Given the description of an element on the screen output the (x, y) to click on. 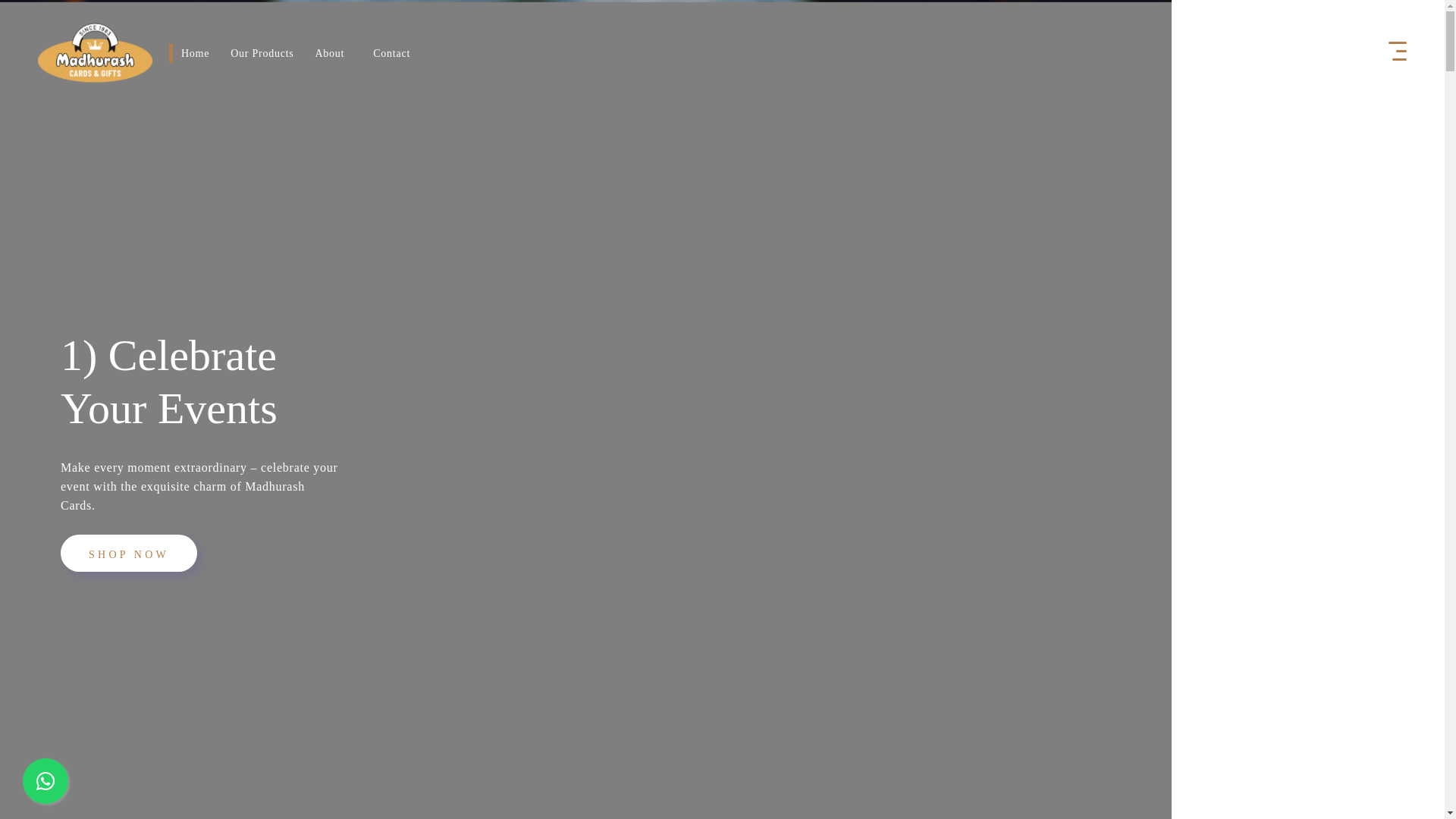
My Wishlist (1287, 52)
About (328, 52)
Search (1249, 52)
Contact (391, 52)
My Account (1362, 52)
Our Products (261, 52)
My Cart (1324, 52)
